Given the description of an element on the screen output the (x, y) to click on. 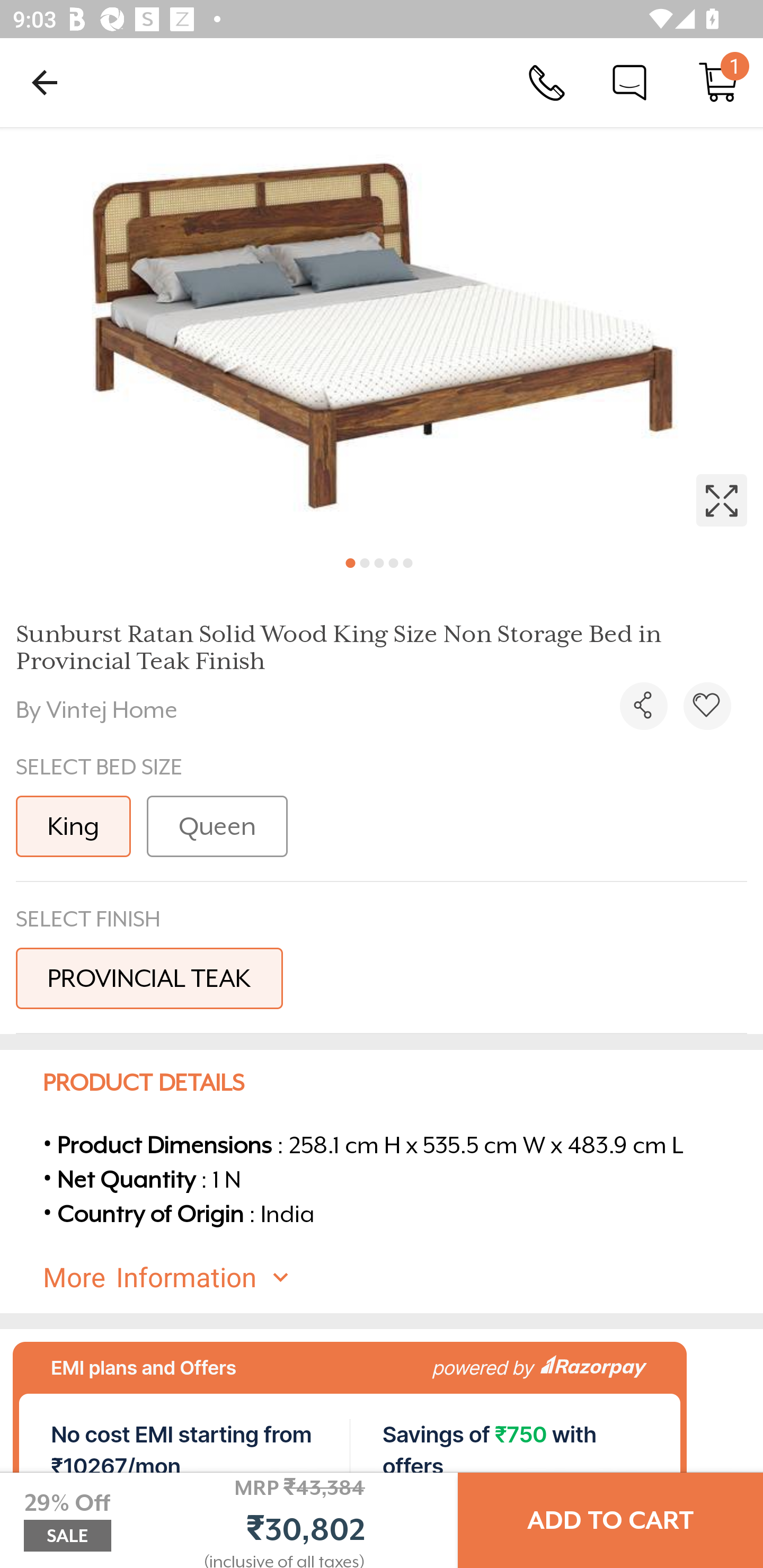
Navigate up (44, 82)
Call Us (546, 81)
Chat (629, 81)
Cart (718, 81)
 (381, 334)
 (643, 706)
 (706, 706)
King (73, 825)
Queen (216, 825)
PROVINCIAL TEAK (149, 978)
More Information  (396, 1277)
ADD TO CART (610, 1520)
